Given the description of an element on the screen output the (x, y) to click on. 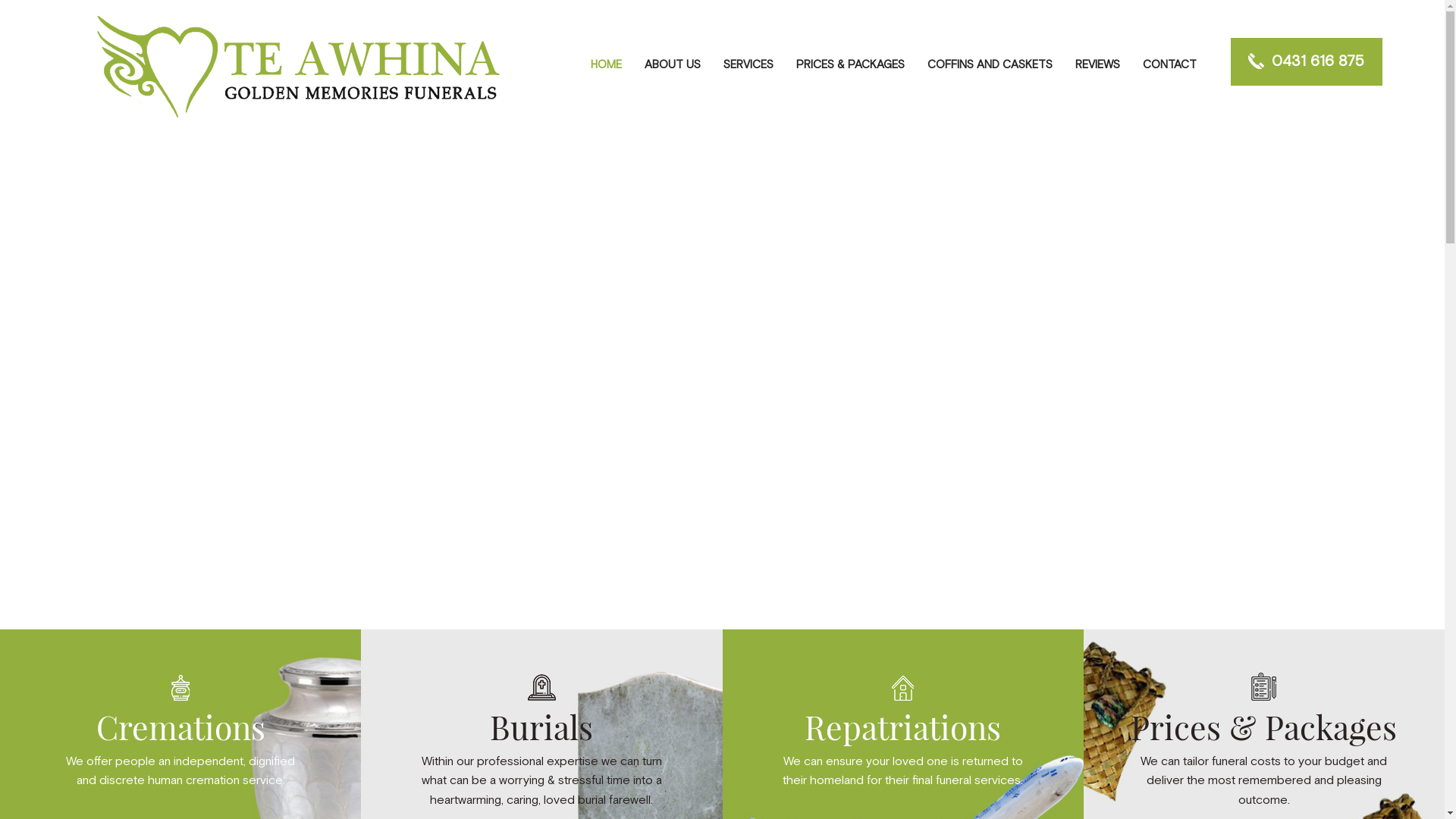
PRICES & PACKAGES Element type: text (849, 62)
SERVICES Element type: text (747, 62)
REVIEWS Element type: text (1096, 62)
HOME Element type: text (606, 62)
ABOUT US Element type: text (671, 62)
0431 616 875 Element type: text (1305, 61)
COFFINS AND CASKETS Element type: text (989, 62)
CONTACT Element type: text (1163, 62)
TALK TO US Element type: text (157, 517)
